Given the description of an element on the screen output the (x, y) to click on. 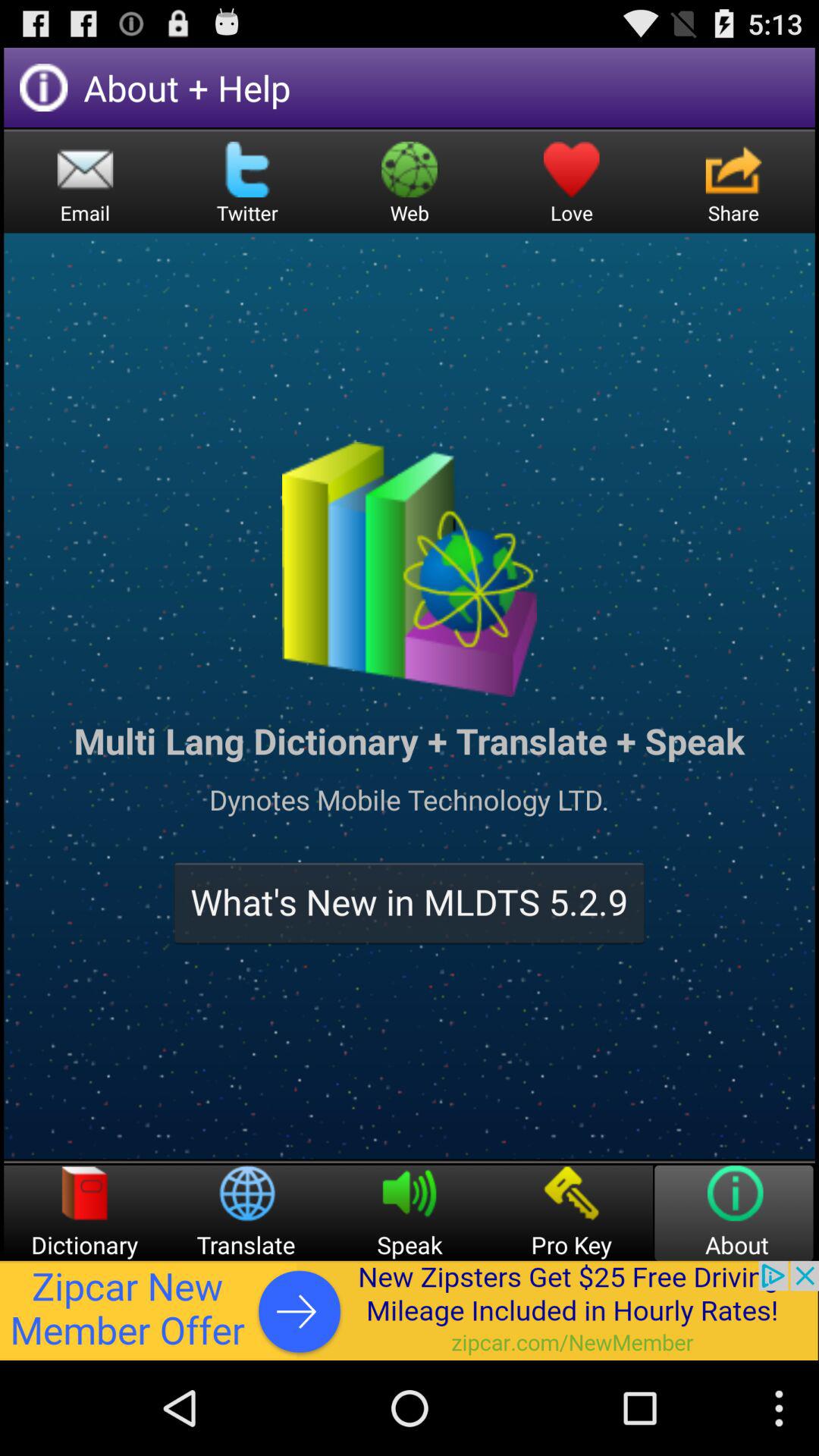
go to advertisement (409, 1310)
